Given the description of an element on the screen output the (x, y) to click on. 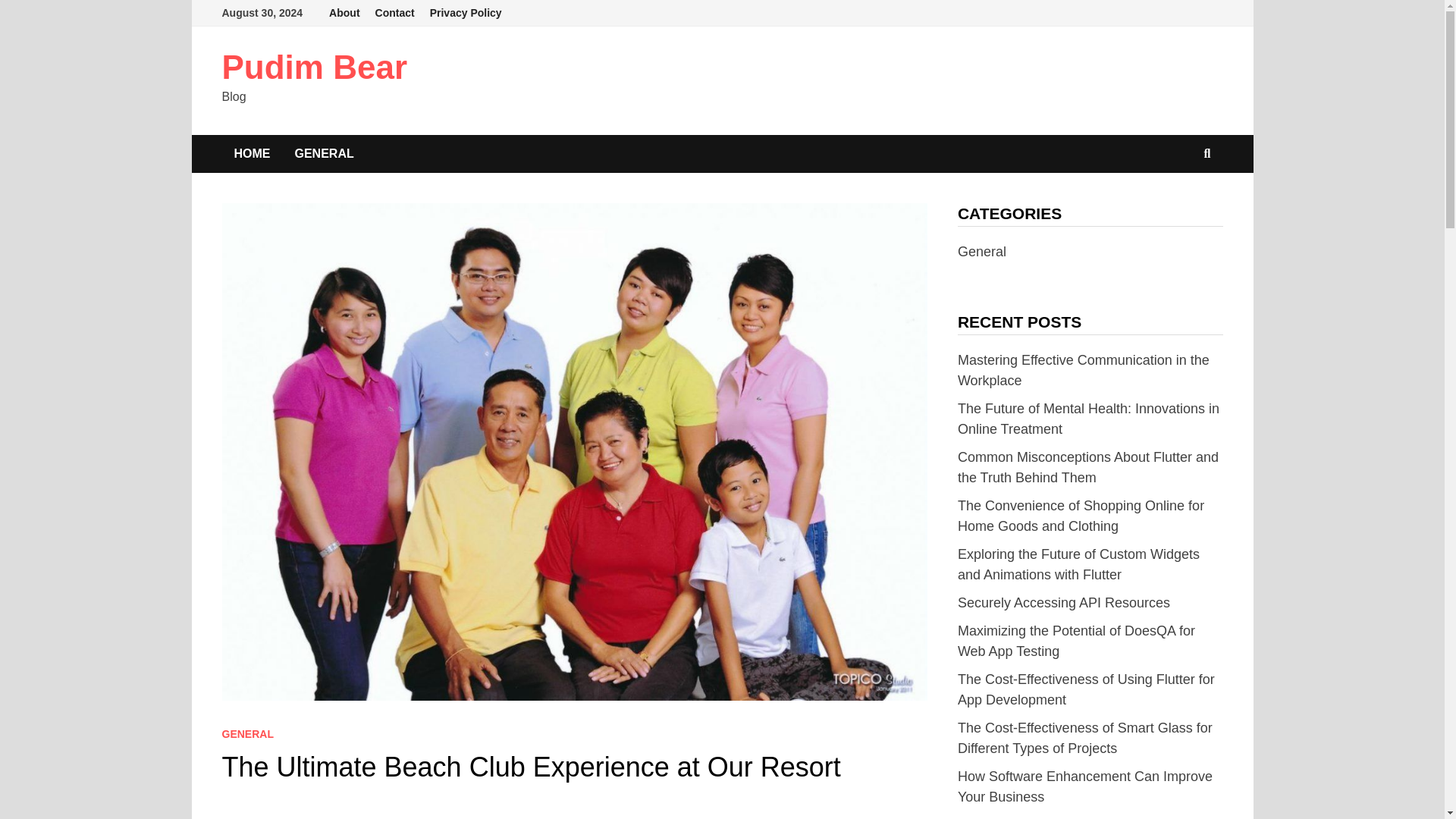
Mastering Effective Communication in the Workplace (1083, 370)
General (982, 251)
Maximizing the Potential of DoesQA for Web App Testing (1076, 641)
About (343, 13)
The Future of Mental Health: Innovations in Online Treatment (1089, 418)
Pudim Bear (314, 66)
Privacy Policy (465, 13)
